Given the description of an element on the screen output the (x, y) to click on. 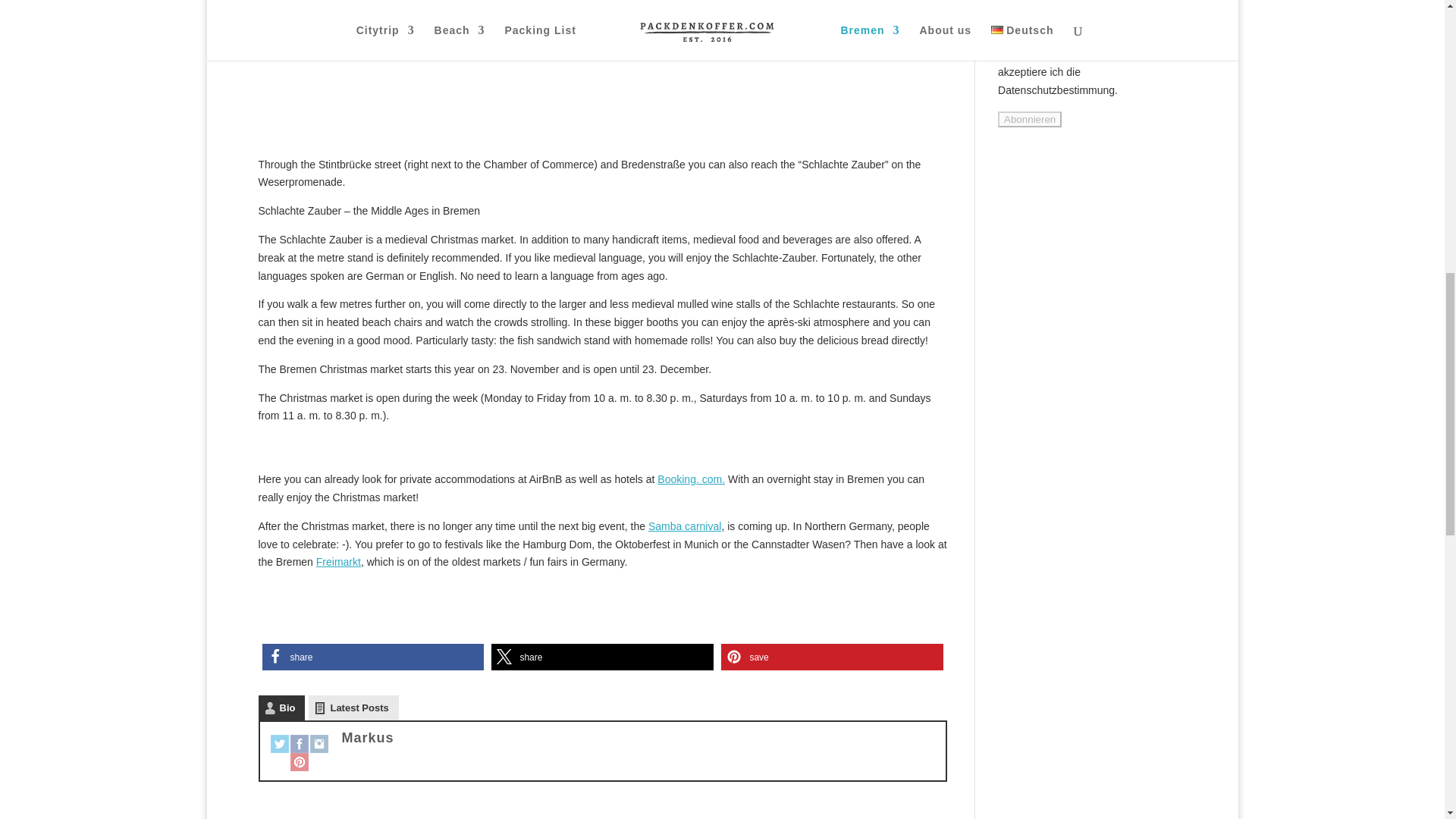
Instagram (317, 743)
Pinterest (298, 761)
62c6238651 (1124, 52)
Pin it on Pinterest (831, 656)
Share on X (602, 656)
Abonnieren (1029, 119)
Facebook (298, 743)
Share on Facebook (373, 656)
Twitter (278, 743)
